Given the description of an element on the screen output the (x, y) to click on. 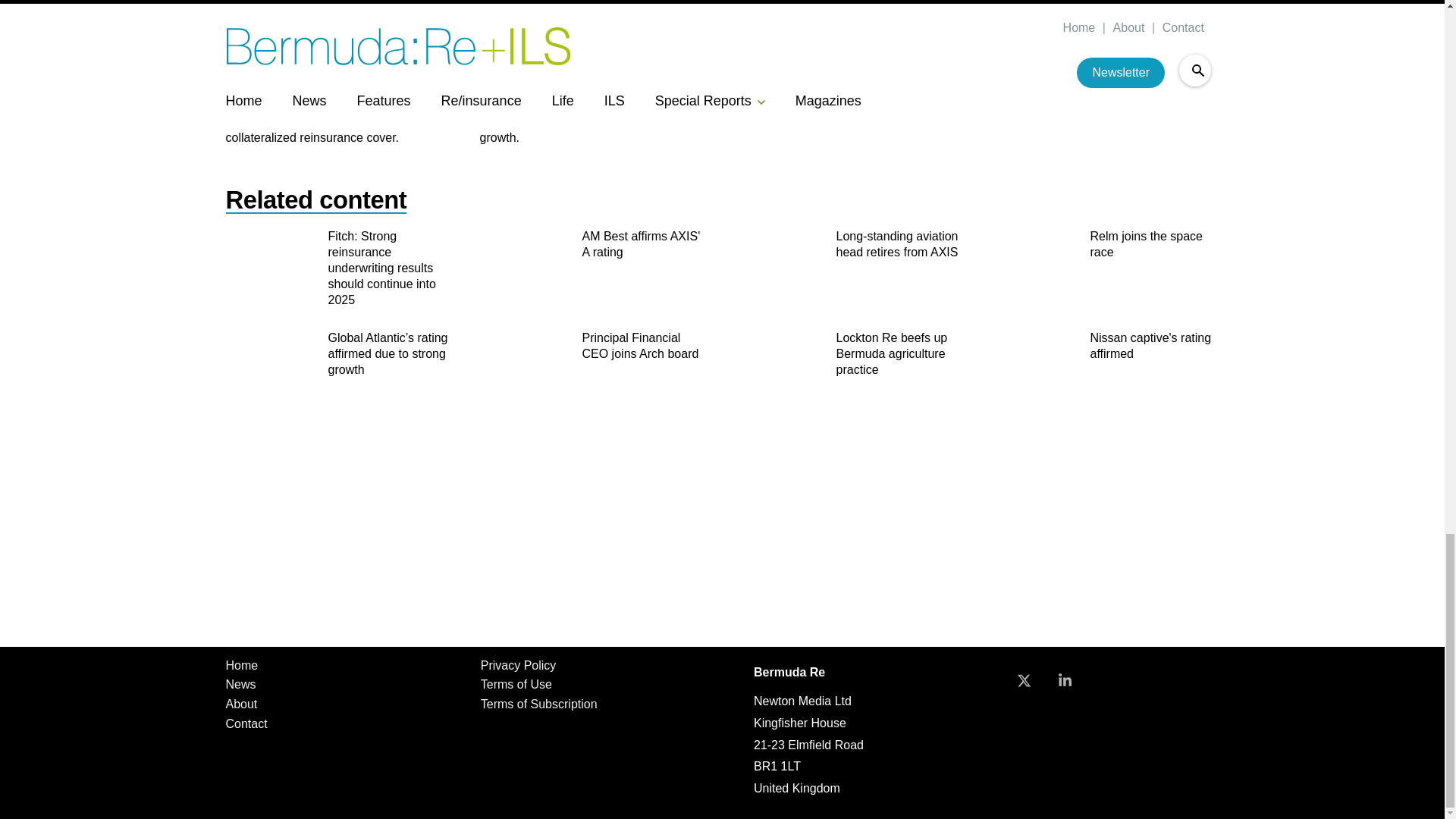
Ariel Re closes first cat bond with carbon offset feature (322, 41)
AM Best affirms AXIS' A rating (642, 245)
Ariel Re becomes first sponsor to use London Bridge 2 (574, 41)
